Given the description of an element on the screen output the (x, y) to click on. 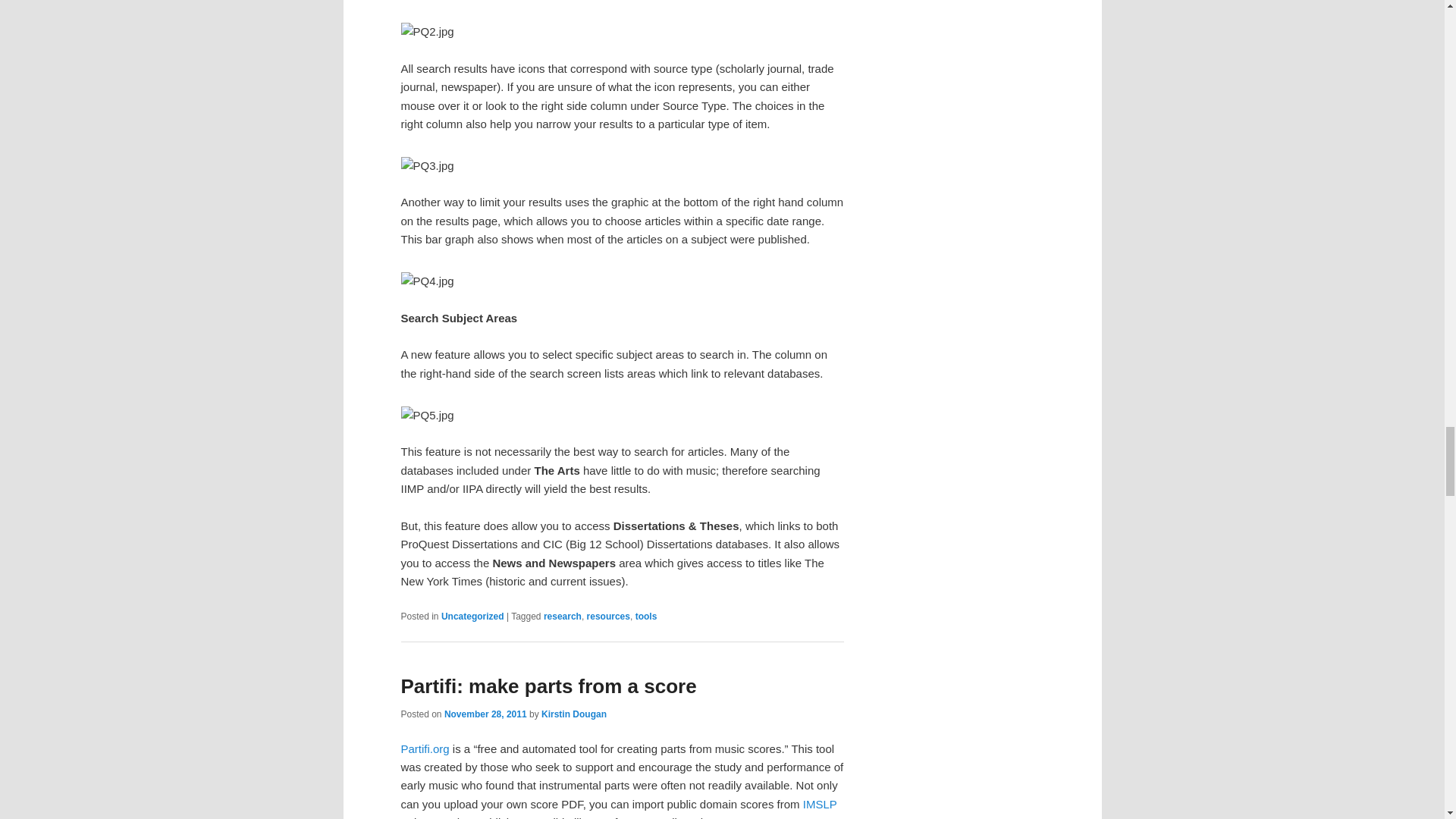
1:11 pm (485, 714)
View all posts by Kirstin Dougan (574, 714)
